Given the description of an element on the screen output the (x, y) to click on. 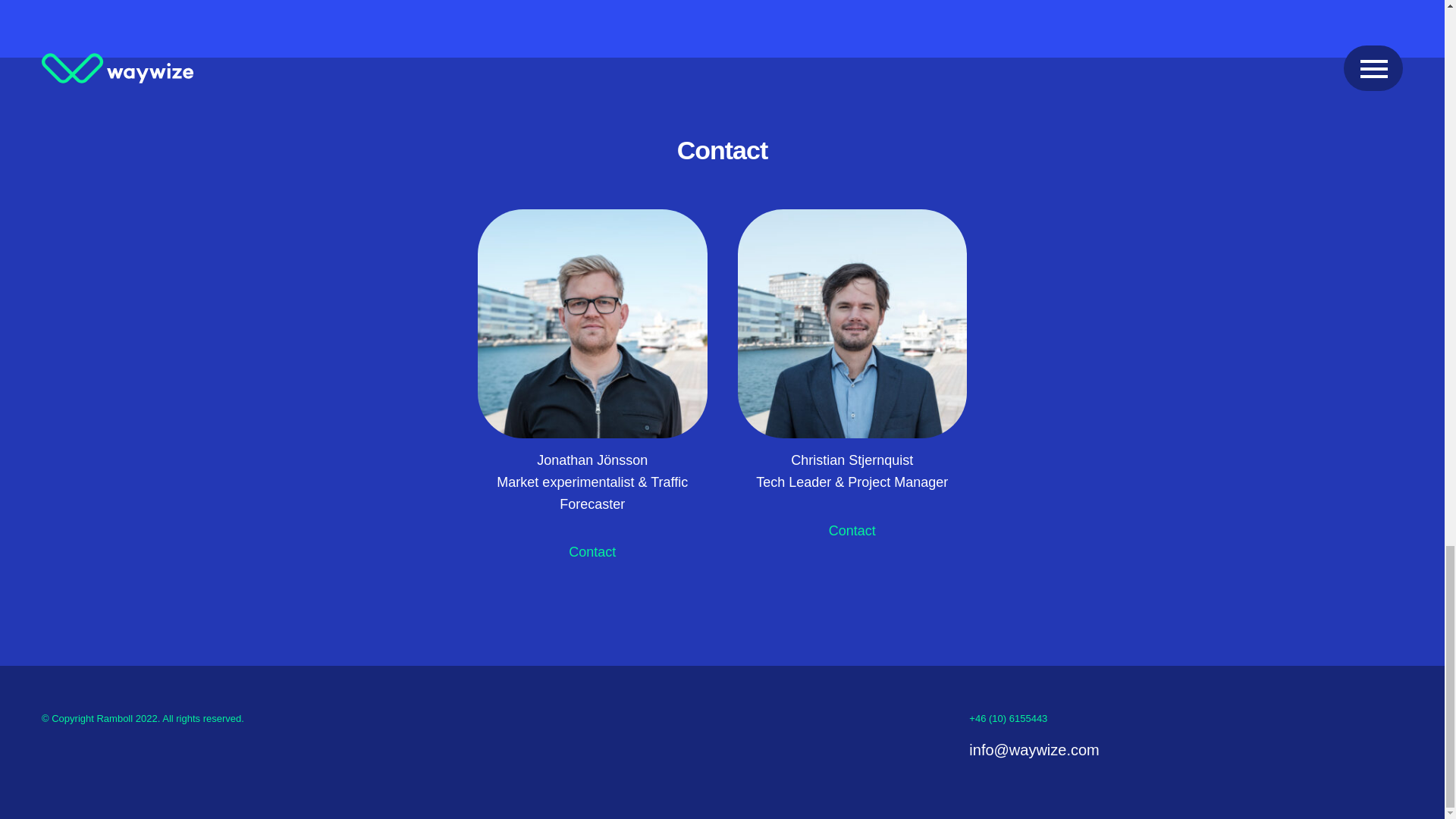
Christian (851, 323)
Contact (852, 531)
Contact (592, 552)
Jonathan (592, 323)
